Given the description of an element on the screen output the (x, y) to click on. 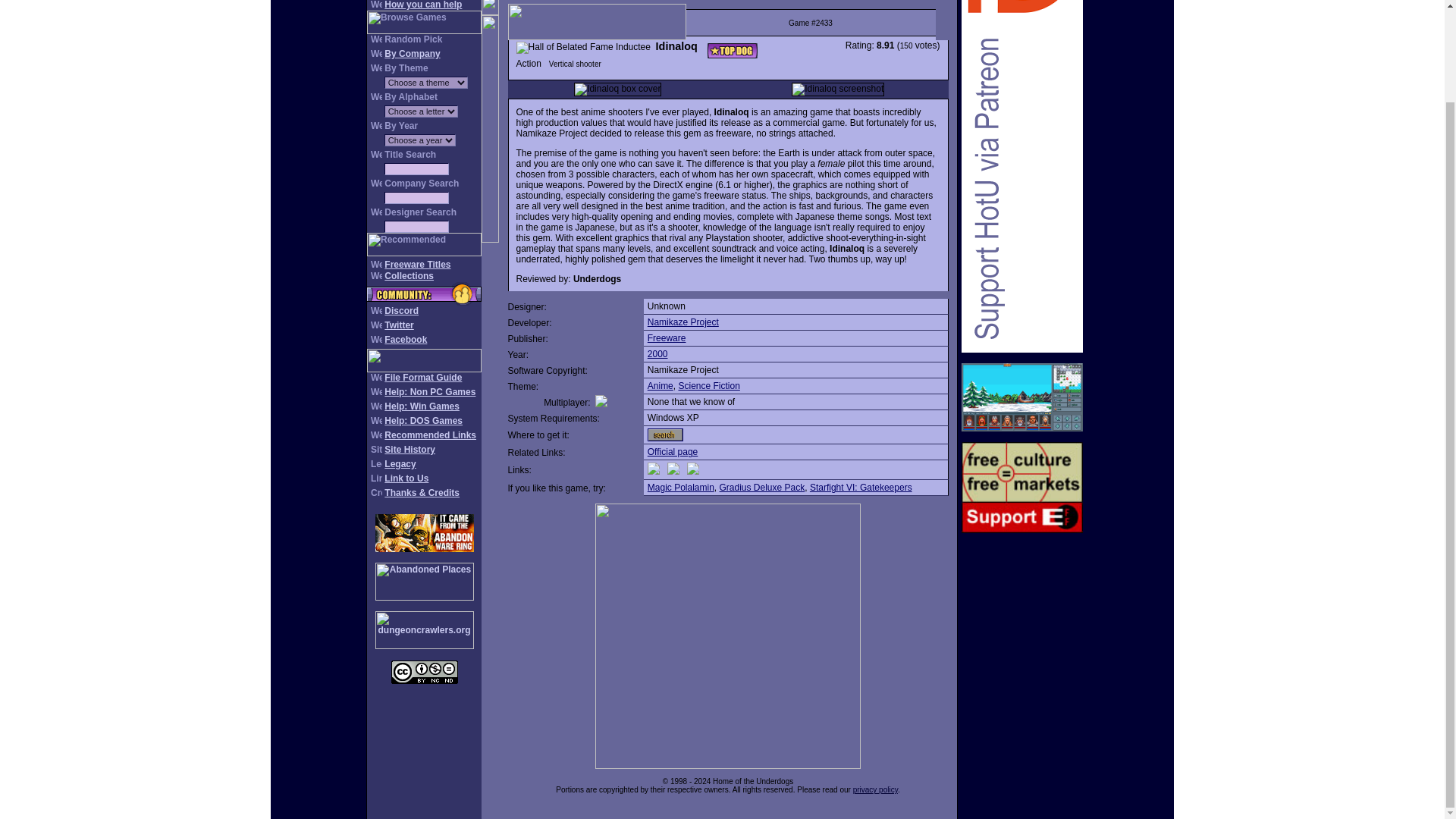
Discord (401, 310)
Random Pick (413, 39)
Link to Us (406, 478)
Freeware Titles (416, 264)
Collections (408, 276)
Recommended Links (430, 434)
Twitter (398, 325)
Facebook (405, 339)
Legacy (399, 463)
By Company (411, 53)
